Given the description of an element on the screen output the (x, y) to click on. 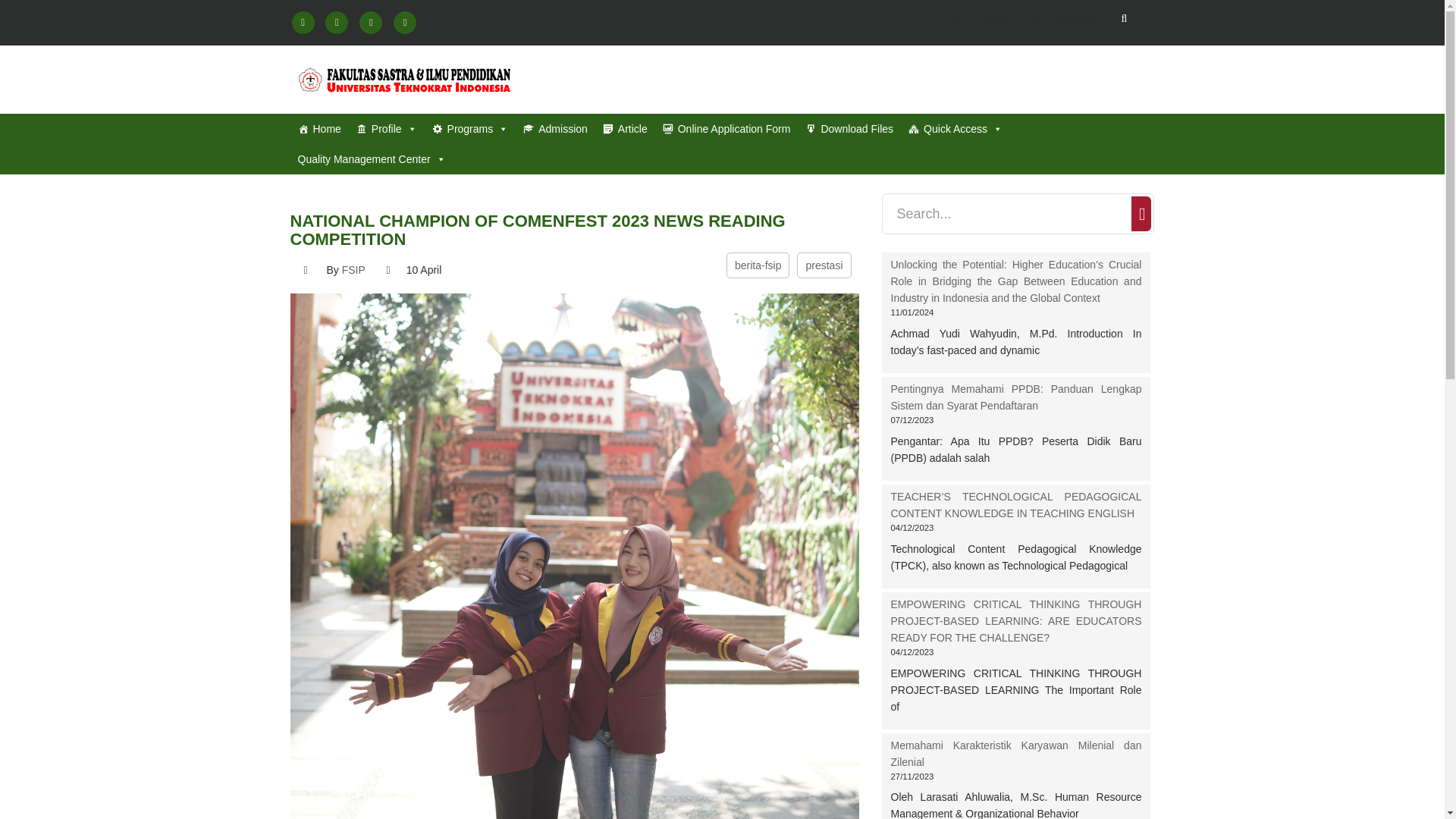
Sign Up (1058, 18)
Home (318, 128)
Online Application Form (726, 128)
Profile (387, 128)
Posts by FSIP (353, 269)
Programs (470, 128)
Admission (555, 128)
Download Files (849, 128)
Article (625, 128)
Quick Access (955, 128)
Login (976, 18)
